Given the description of an element on the screen output the (x, y) to click on. 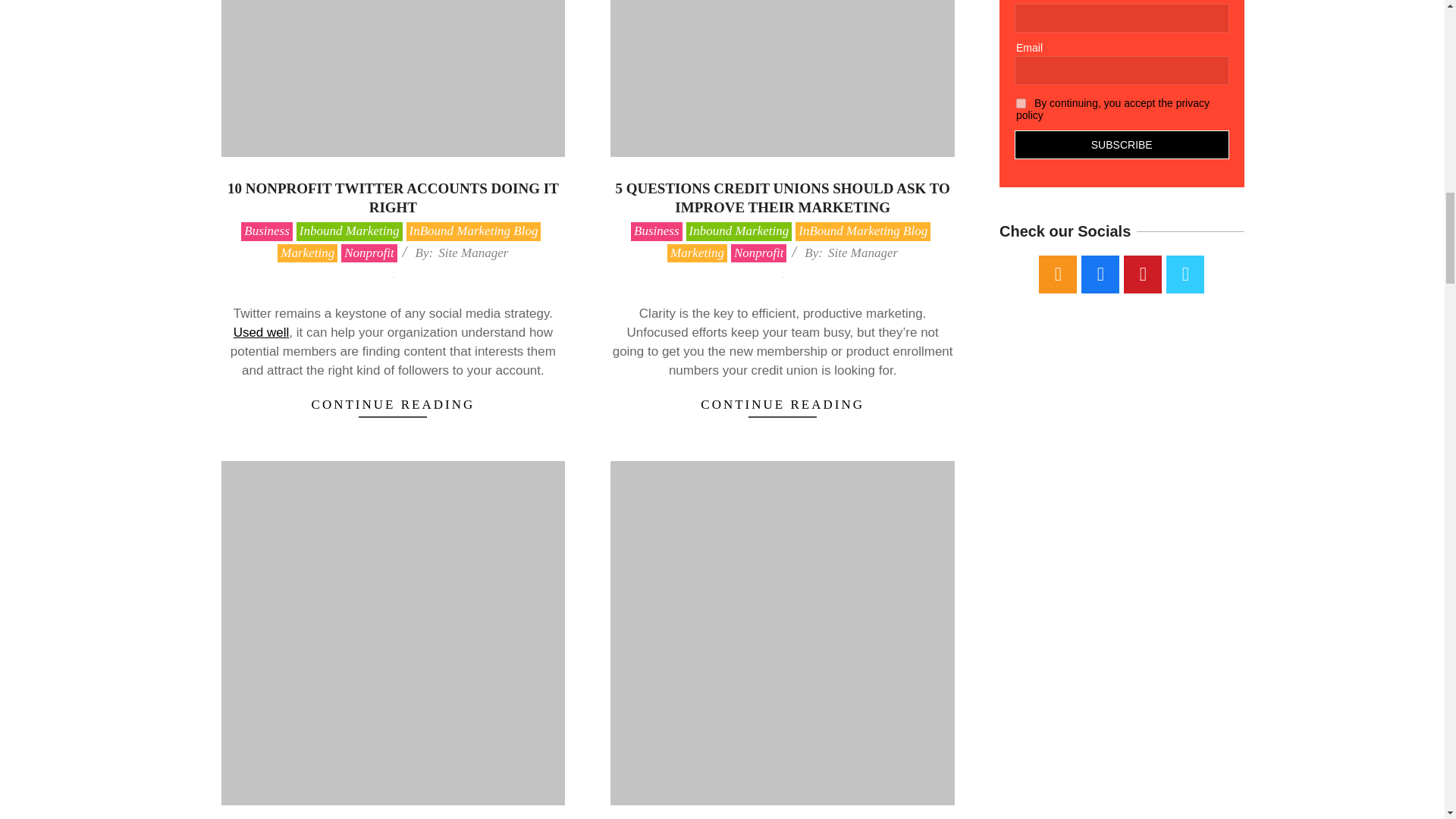
Subscribe (1121, 144)
on (1021, 103)
Posts by Site Manager (863, 252)
Posts by Site Manager (473, 252)
